Given the description of an element on the screen output the (x, y) to click on. 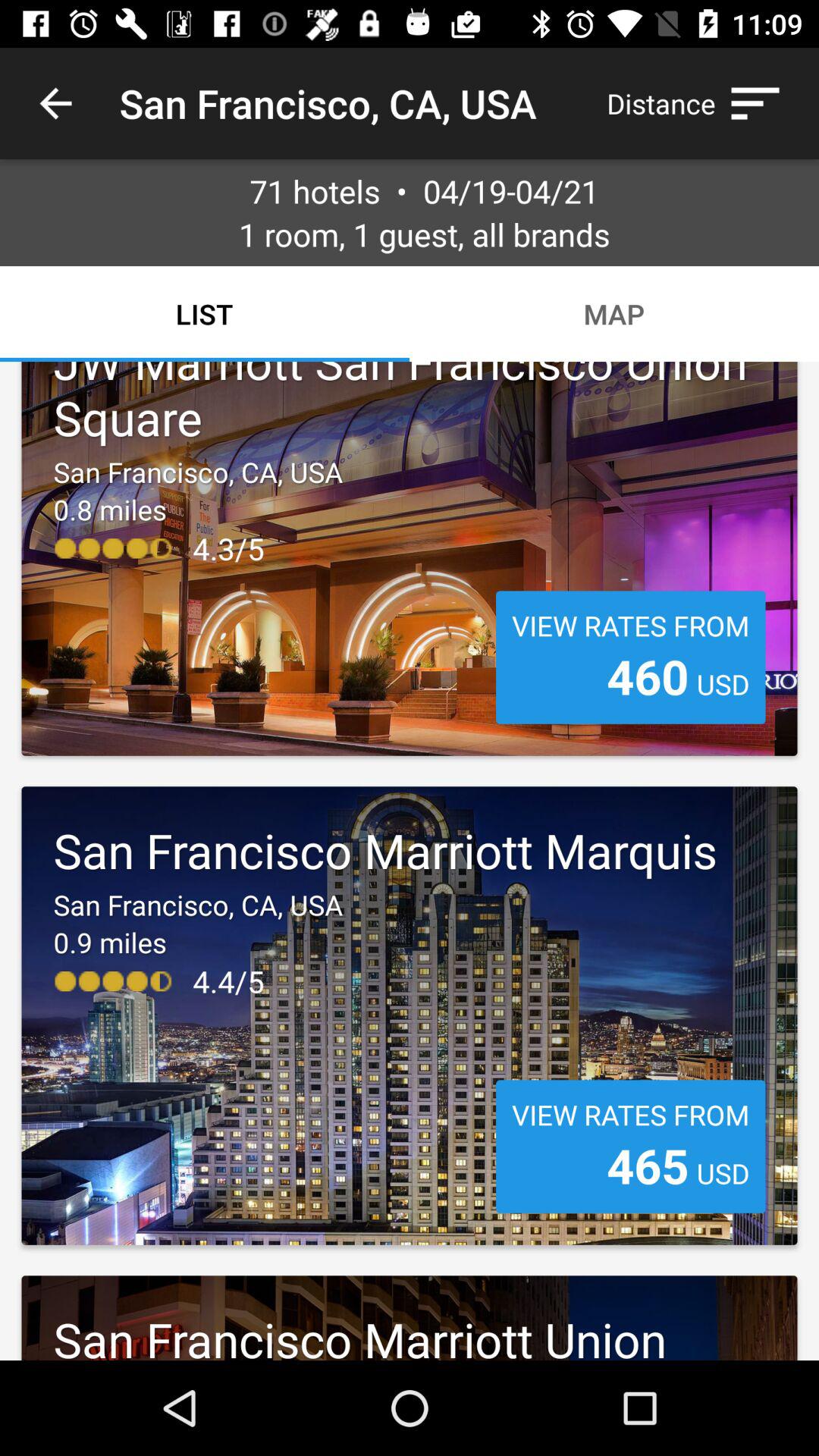
turn off icon next to the san francisco ca app (700, 103)
